Given the description of an element on the screen output the (x, y) to click on. 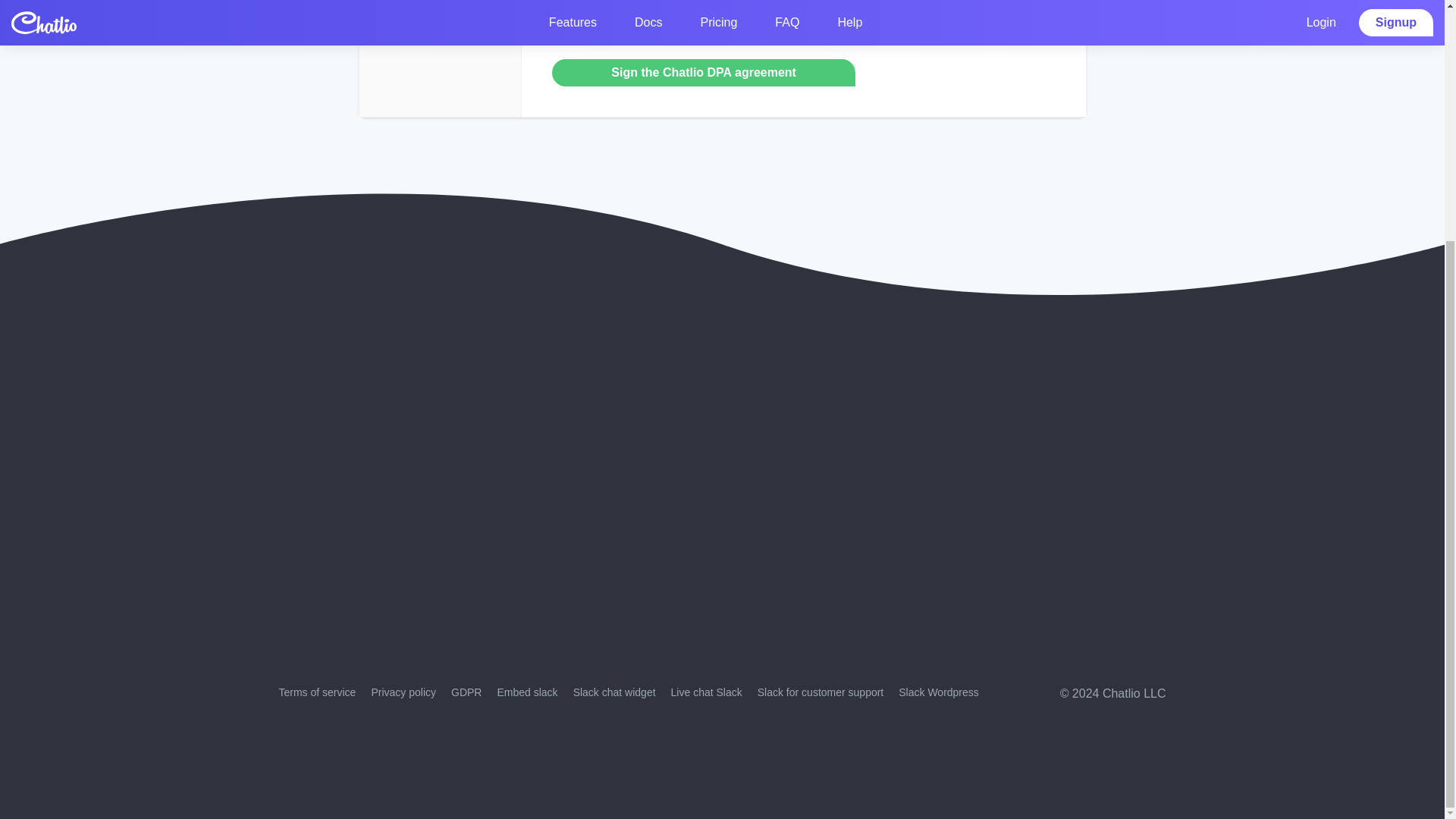
Terms of service (317, 692)
Sign the Chatlio DPA agreement (703, 72)
Slack chat widget (614, 692)
Live chat Slack (706, 692)
Embed slack (526, 692)
Privacy policy (403, 692)
GDPR (466, 692)
